Given the description of an element on the screen output the (x, y) to click on. 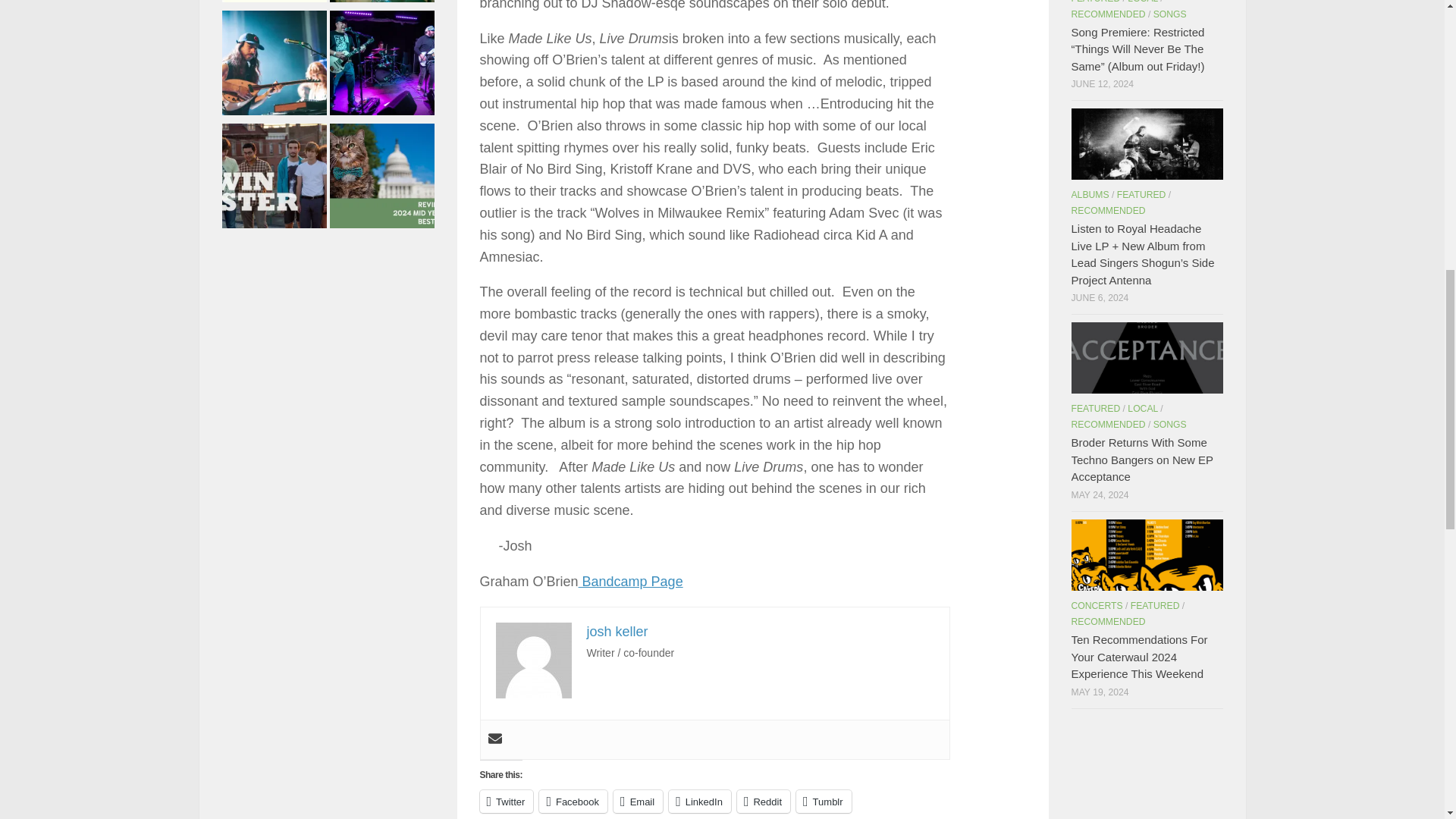
Click to share on Facebook (572, 801)
josh keller (616, 631)
Click to email a link to a friend (637, 801)
LinkedIn (699, 801)
Click to share on Twitter (505, 801)
Twitter (505, 801)
Facebook (572, 801)
Click to share on LinkedIn (699, 801)
Email (637, 801)
Click to share on Reddit (763, 801)
Bandcamp Page (630, 581)
